Given the description of an element on the screen output the (x, y) to click on. 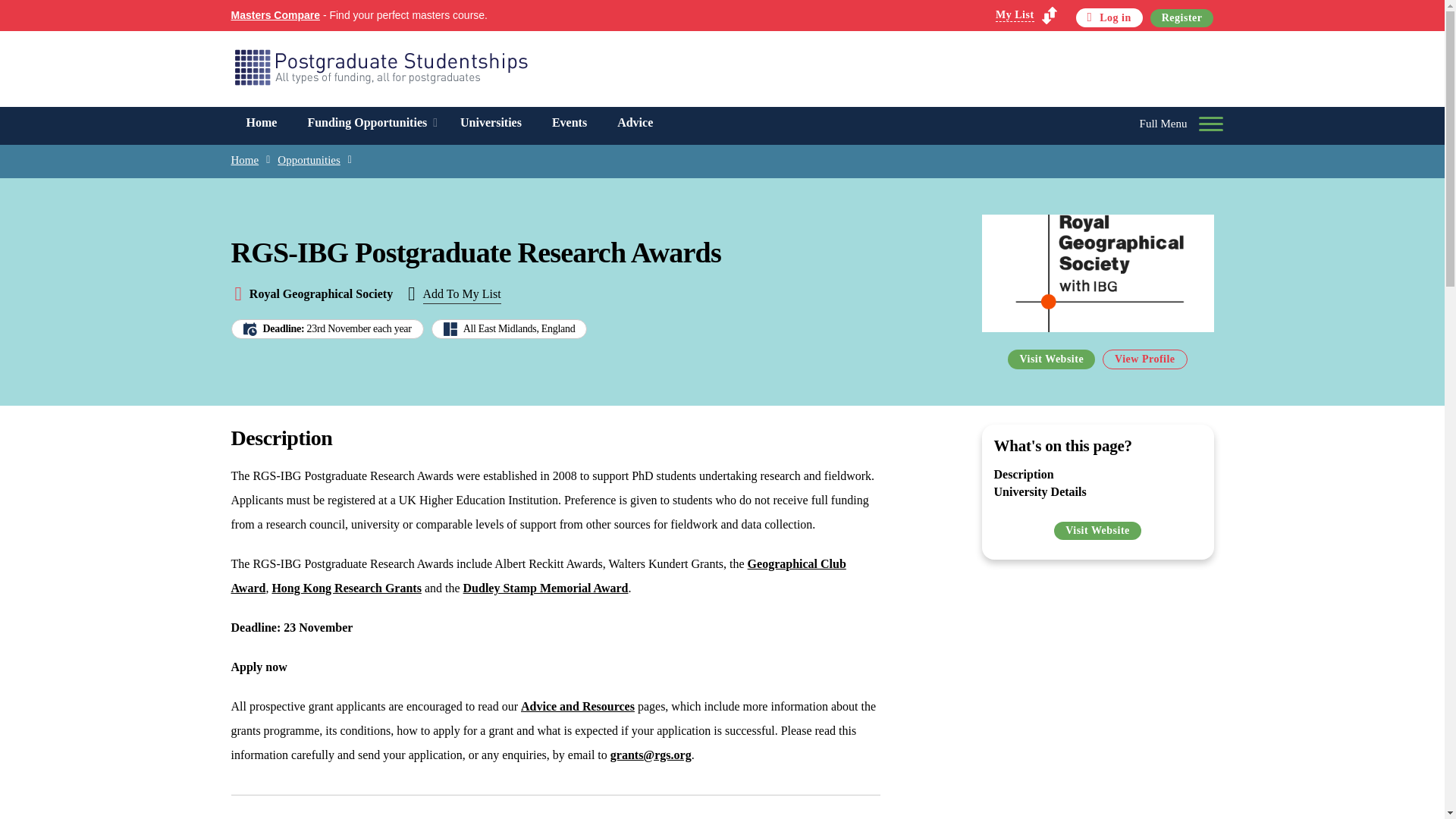
Dudley Stamp Memorial Award (545, 587)
Visit Website (1097, 530)
Events (569, 122)
Advice and Resources (577, 706)
Advice (635, 122)
Opportunities (309, 159)
My List (1026, 15)
Register (1182, 18)
View Profile (1144, 359)
Geographical Club Award (537, 575)
Visit Website (1050, 359)
Home (261, 122)
Description (1022, 473)
Universities (491, 122)
Royal Geographical Society (320, 293)
